Given the description of an element on the screen output the (x, y) to click on. 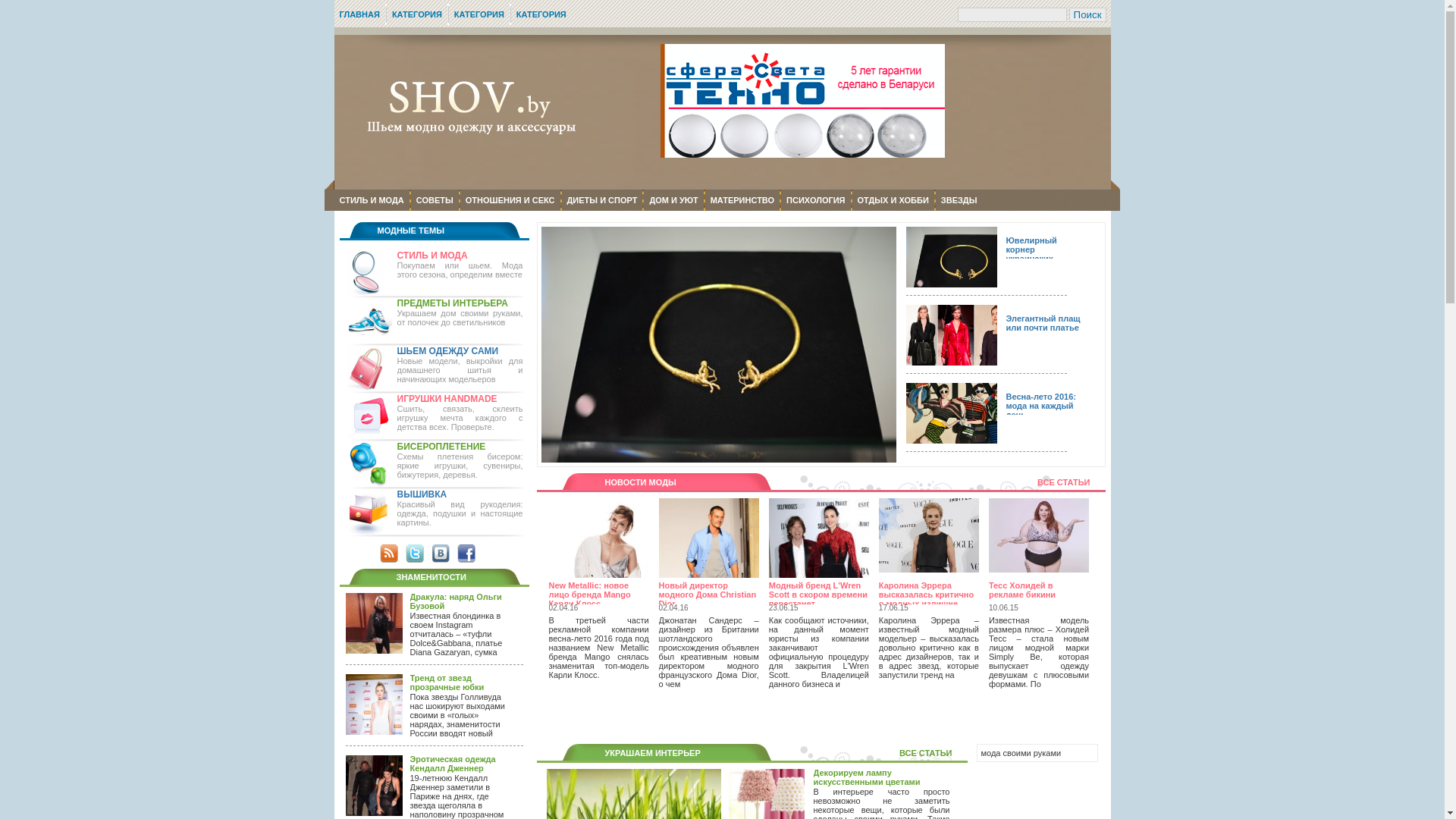
Twitter Element type: text (413, 553)
Facebook Element type: text (465, 553)
RSS Element type: text (388, 553)
